Given the description of an element on the screen output the (x, y) to click on. 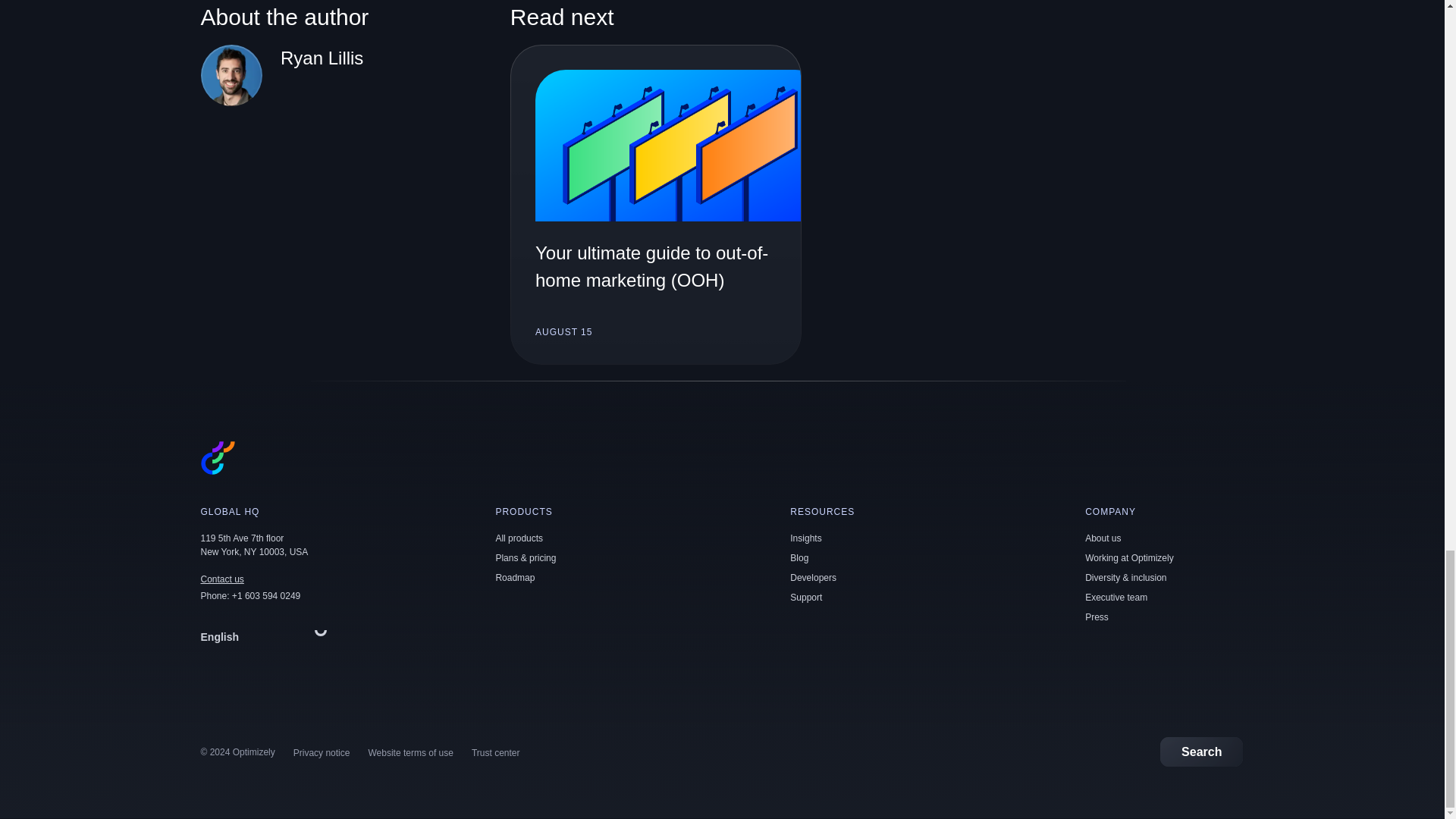
Website terms of use (410, 752)
Working at Optimizely (1128, 557)
Developers (812, 577)
Privacy notice (322, 752)
Support (806, 597)
Executive team (1115, 597)
English (266, 636)
Press (1096, 616)
About us (1102, 538)
All products (519, 538)
